Given the description of an element on the screen output the (x, y) to click on. 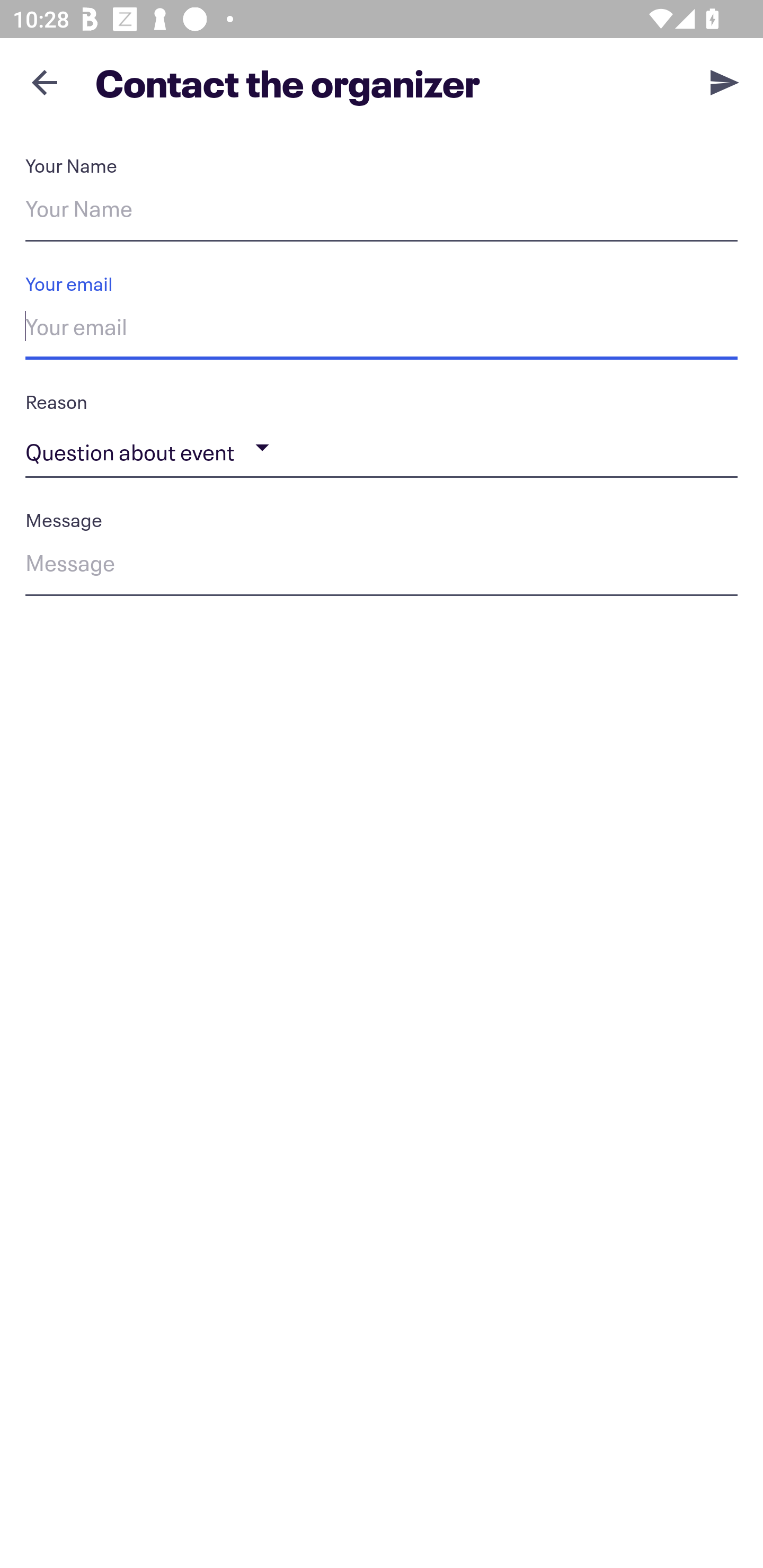
Navigate up (44, 82)
Send (724, 81)
Your Name (381, 211)
Your email (381, 329)
Question about event    (381, 447)
Message (381, 565)
